Given the description of an element on the screen output the (x, y) to click on. 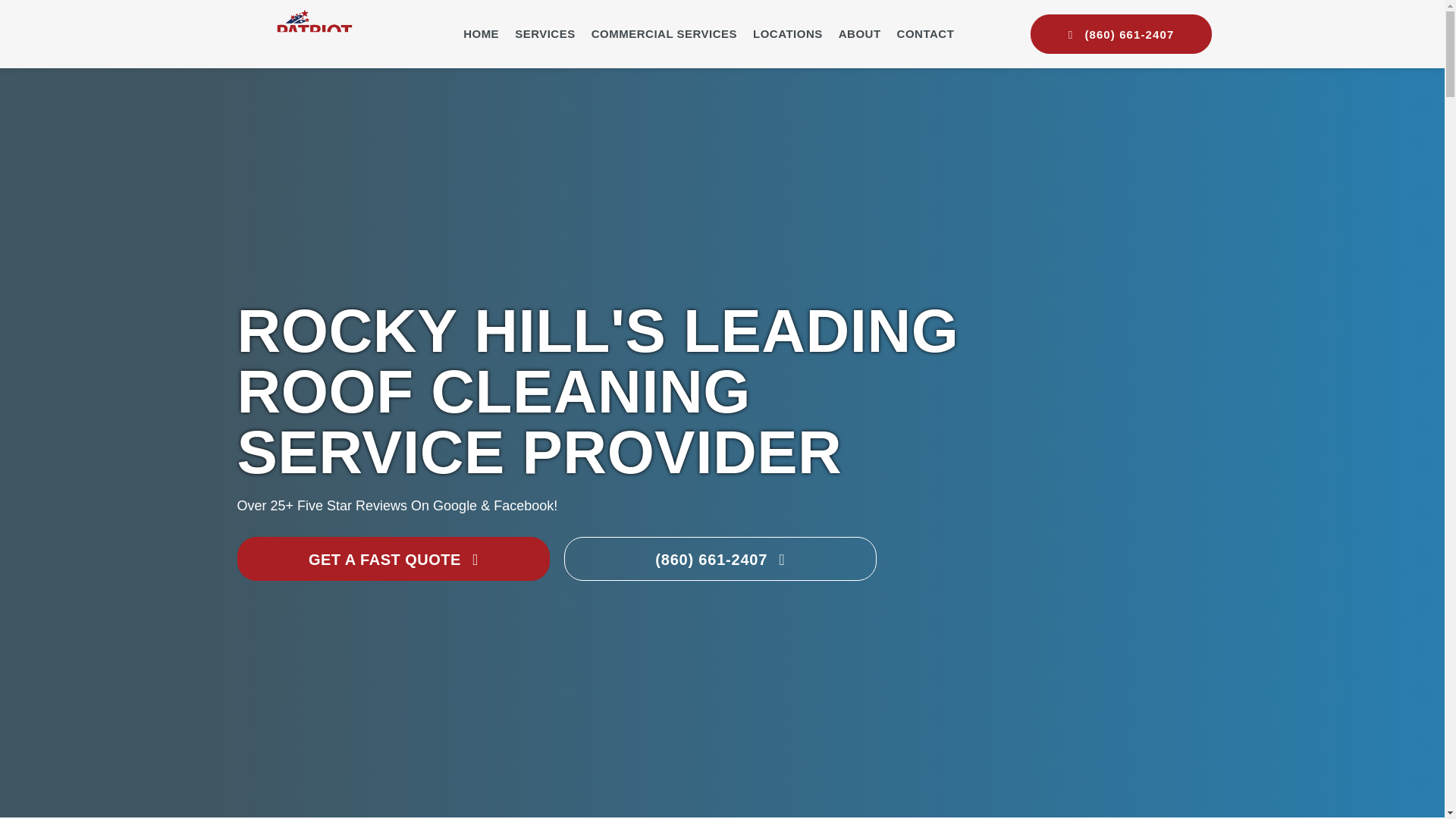
CONTACT (925, 33)
LOCATIONS (787, 33)
SERVICES (545, 33)
COMMERCIAL SERVICES (663, 33)
HOME (481, 33)
ABOUT (859, 33)
